Given the description of an element on the screen output the (x, y) to click on. 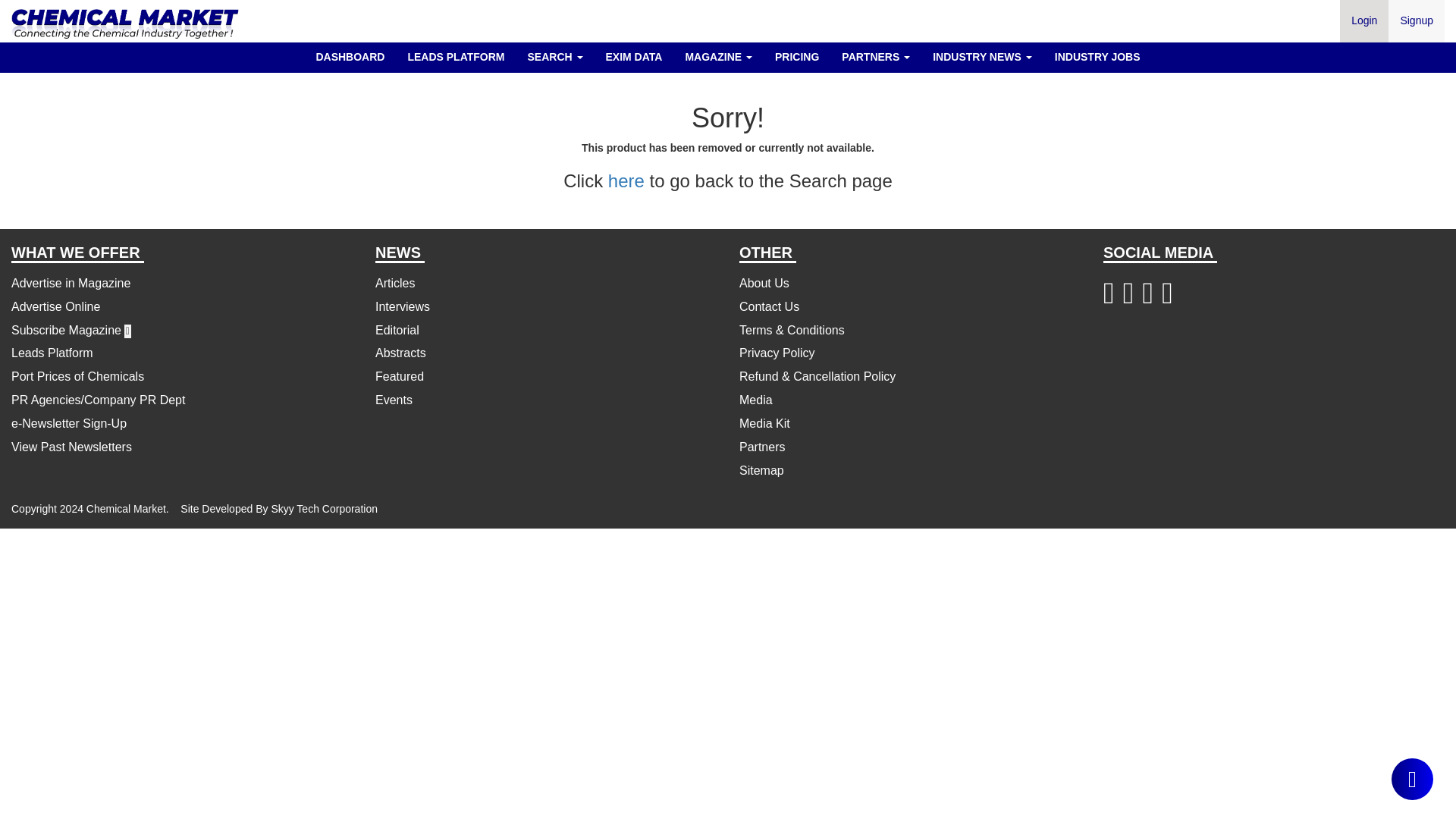
LEADS PLATFORM (455, 56)
INDUSTRY JOBS (1097, 56)
Interviews (402, 306)
View Past Newsletters (71, 446)
EXIM DATA (634, 56)
Editorial (397, 329)
Advertise in Magazine (71, 282)
DASHBOARD (350, 56)
PRICING (795, 56)
Articles (394, 282)
Advertise Online (55, 306)
Signup (1416, 21)
Subscribe Magazine (65, 329)
e-Newsletter Sign-Up (68, 422)
INDUSTRY NEWS (982, 56)
